Given the description of an element on the screen output the (x, y) to click on. 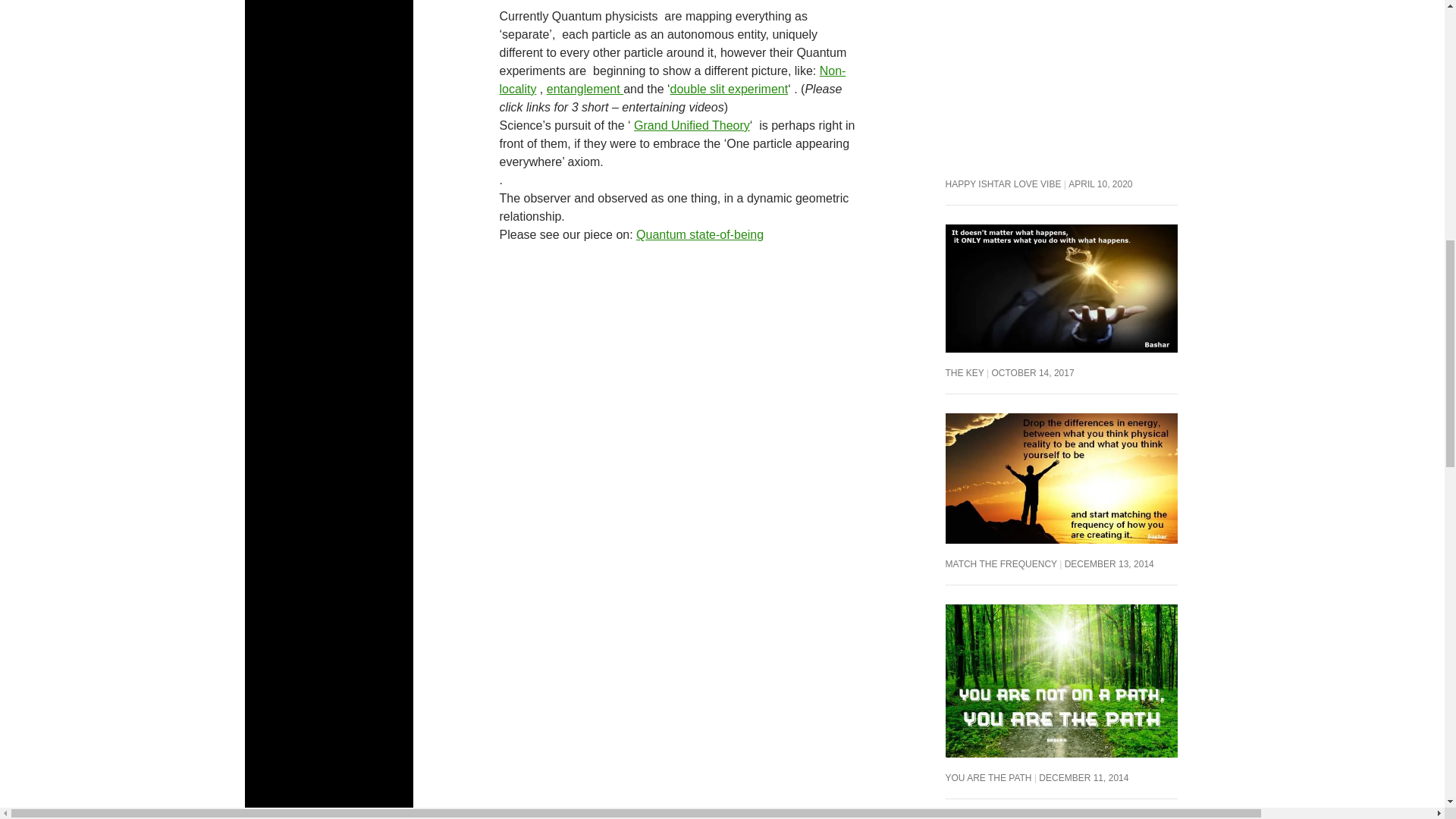
Quantum entanglement video explanation (585, 88)
Non-Locality (672, 79)
Double slit experiment (729, 88)
